Given the description of an element on the screen output the (x, y) to click on. 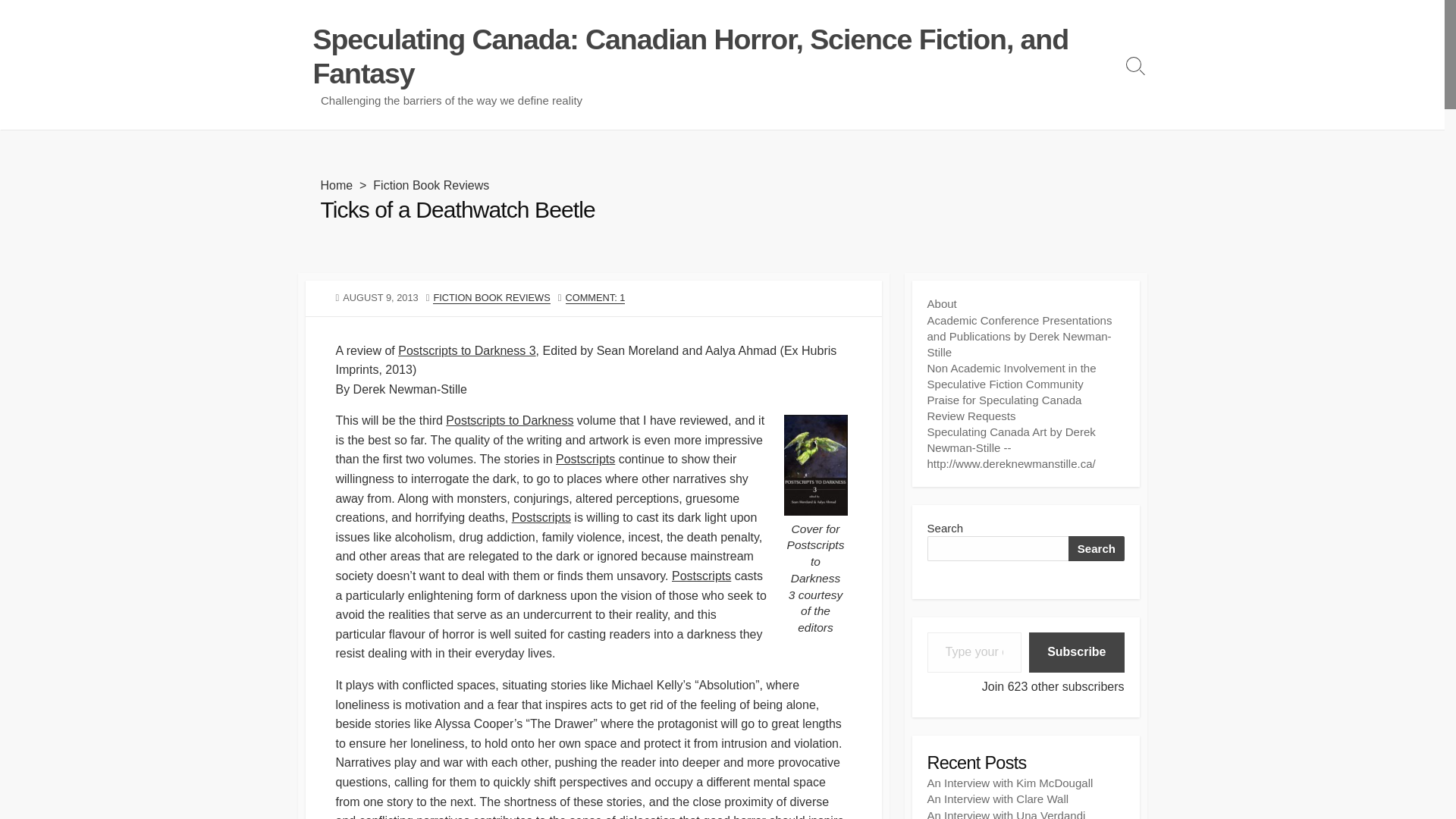
Home (336, 185)
Please fill in this field. (974, 652)
COMMENT: 1 (596, 297)
Fiction Book Reviews (430, 185)
FICTION BOOK REVIEWS (491, 297)
